Given the description of an element on the screen output the (x, y) to click on. 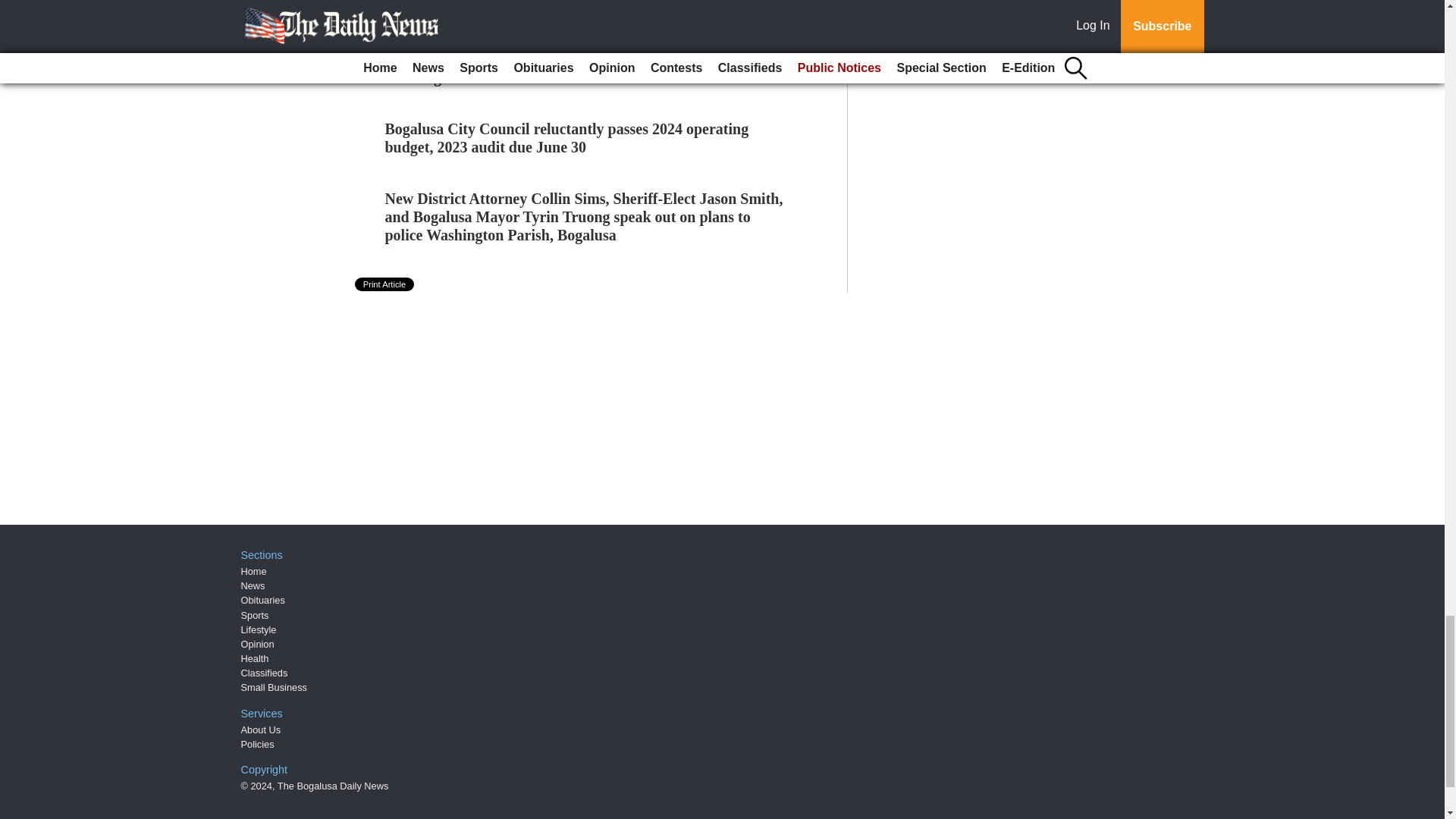
Opinion (258, 644)
Print Article (384, 284)
Washington Parish Watermelon Festival this weekend (559, 76)
Obituaries (263, 600)
News (252, 585)
Lifestyle (258, 629)
Classifieds (264, 672)
Health (255, 658)
Small Business (274, 686)
Washington Parish Watermelon Festival this weekend (559, 76)
Home (253, 571)
